Given the description of an element on the screen output the (x, y) to click on. 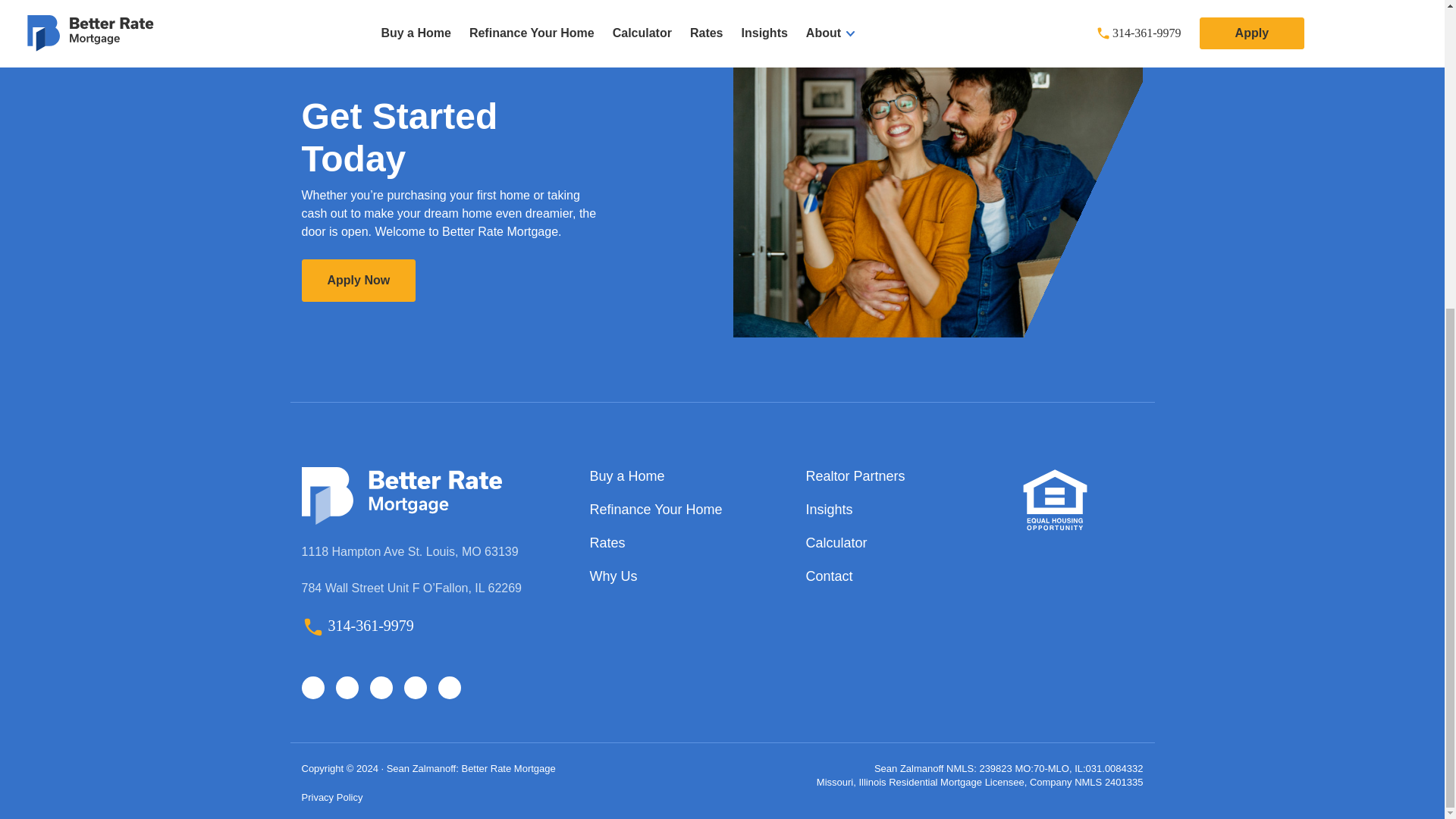
Why Us (686, 576)
Calculator (901, 542)
Refinance Your Home (686, 509)
Buy a Home (686, 475)
Buy a Home (686, 475)
Refinance Your Home (686, 509)
Rates (686, 542)
Calculator (901, 542)
Better Rate Mortgage (401, 494)
314-361-9979 (357, 625)
